Given the description of an element on the screen output the (x, y) to click on. 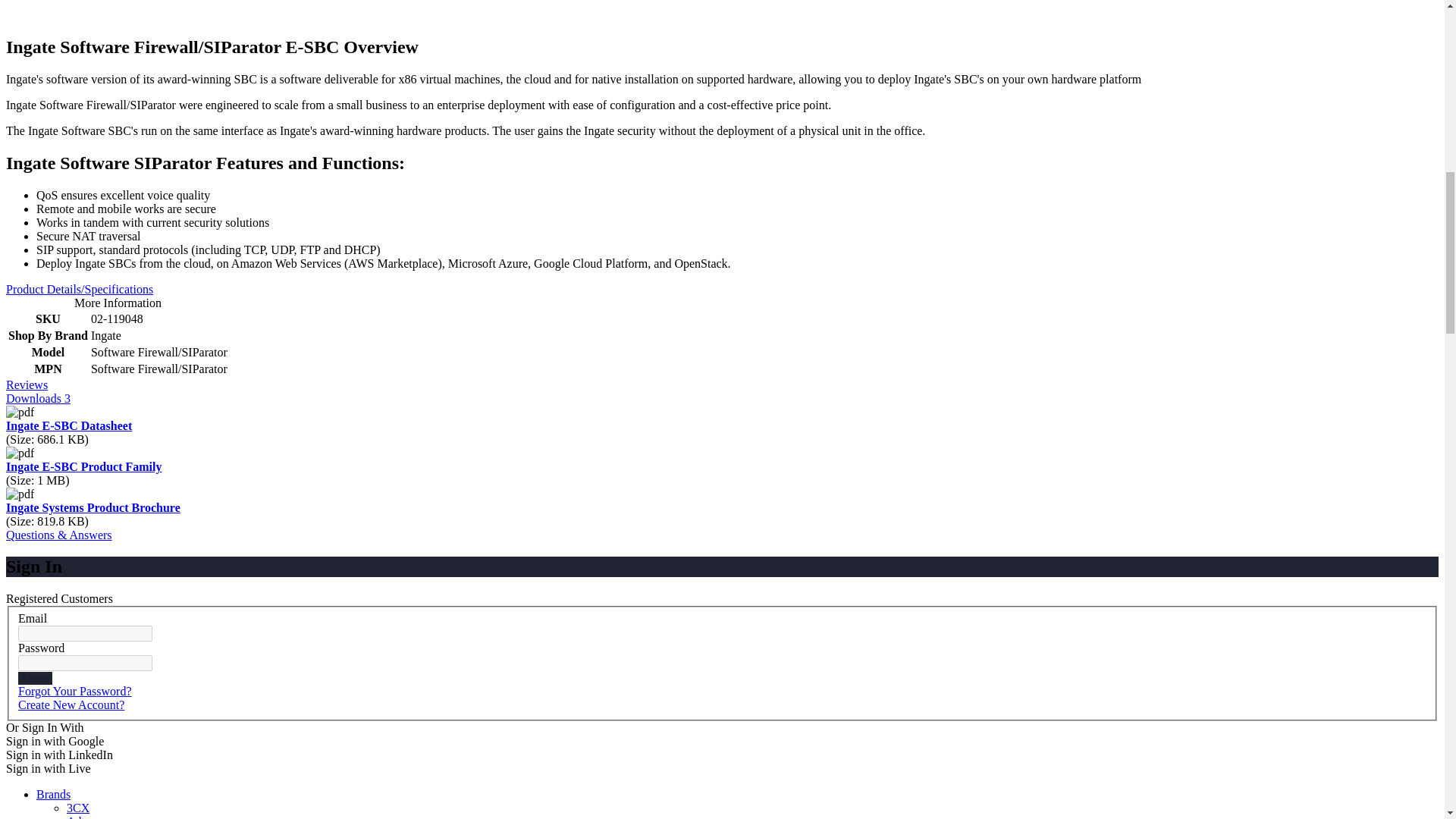
Login (34, 677)
Ingate Systems Product Brochure (92, 506)
Ingate E-SBC Product Family (83, 465)
Sign in with Google (54, 740)
Downloads 3 (37, 397)
Reviews (26, 383)
Forgot Your Password? (74, 690)
Ingate E-SBC Product Family (83, 465)
Ingate E-SBC Datasheet (68, 424)
Ingate E-SBC Datasheet (68, 424)
